Given the description of an element on the screen output the (x, y) to click on. 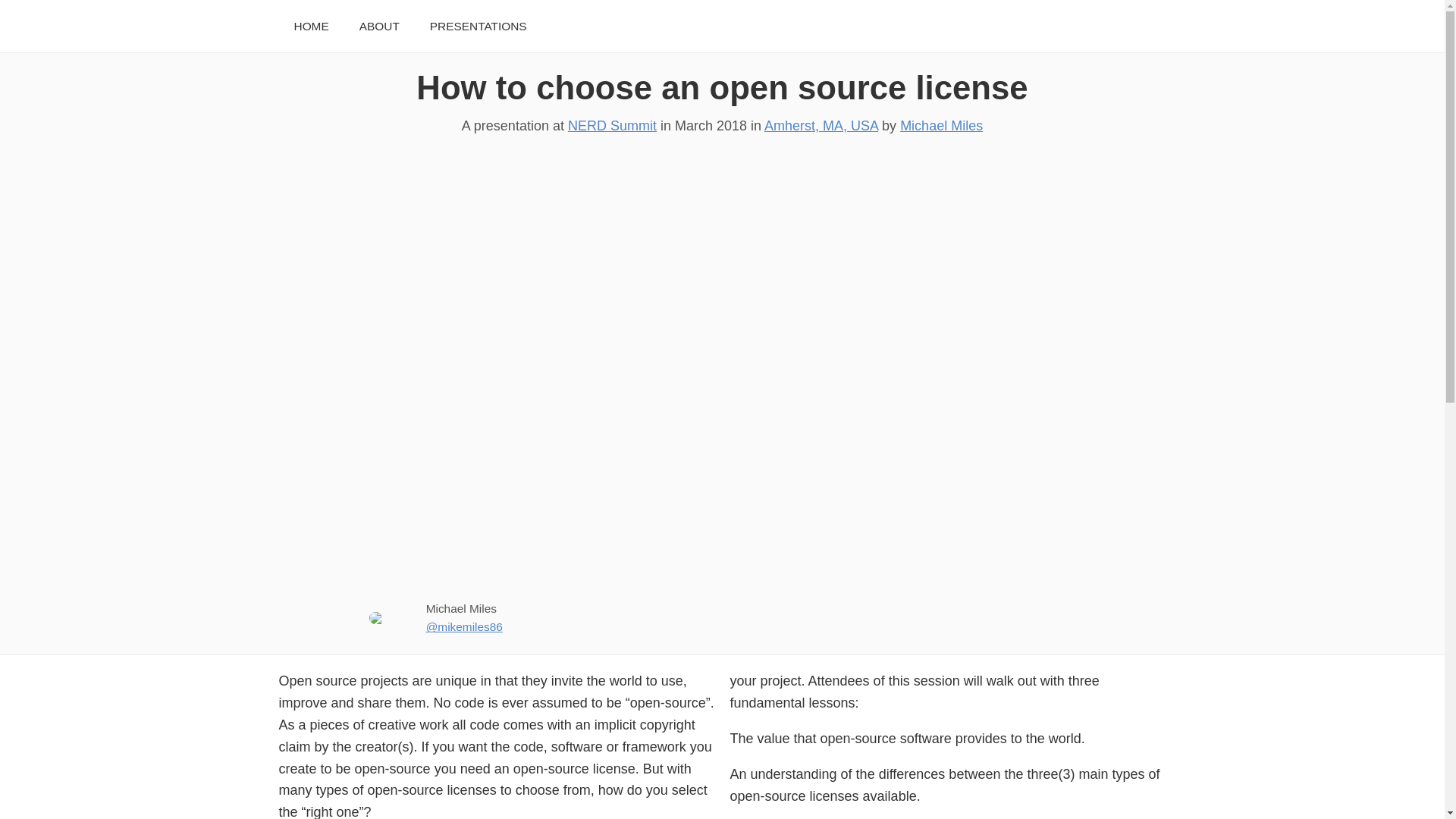
Amherst, MA, USA (820, 125)
Michael Miles (940, 125)
PRESENTATIONS (478, 25)
How to choose an open source license (721, 87)
ABOUT (378, 25)
HOME (311, 25)
NERD Summit (611, 125)
